Given the description of an element on the screen output the (x, y) to click on. 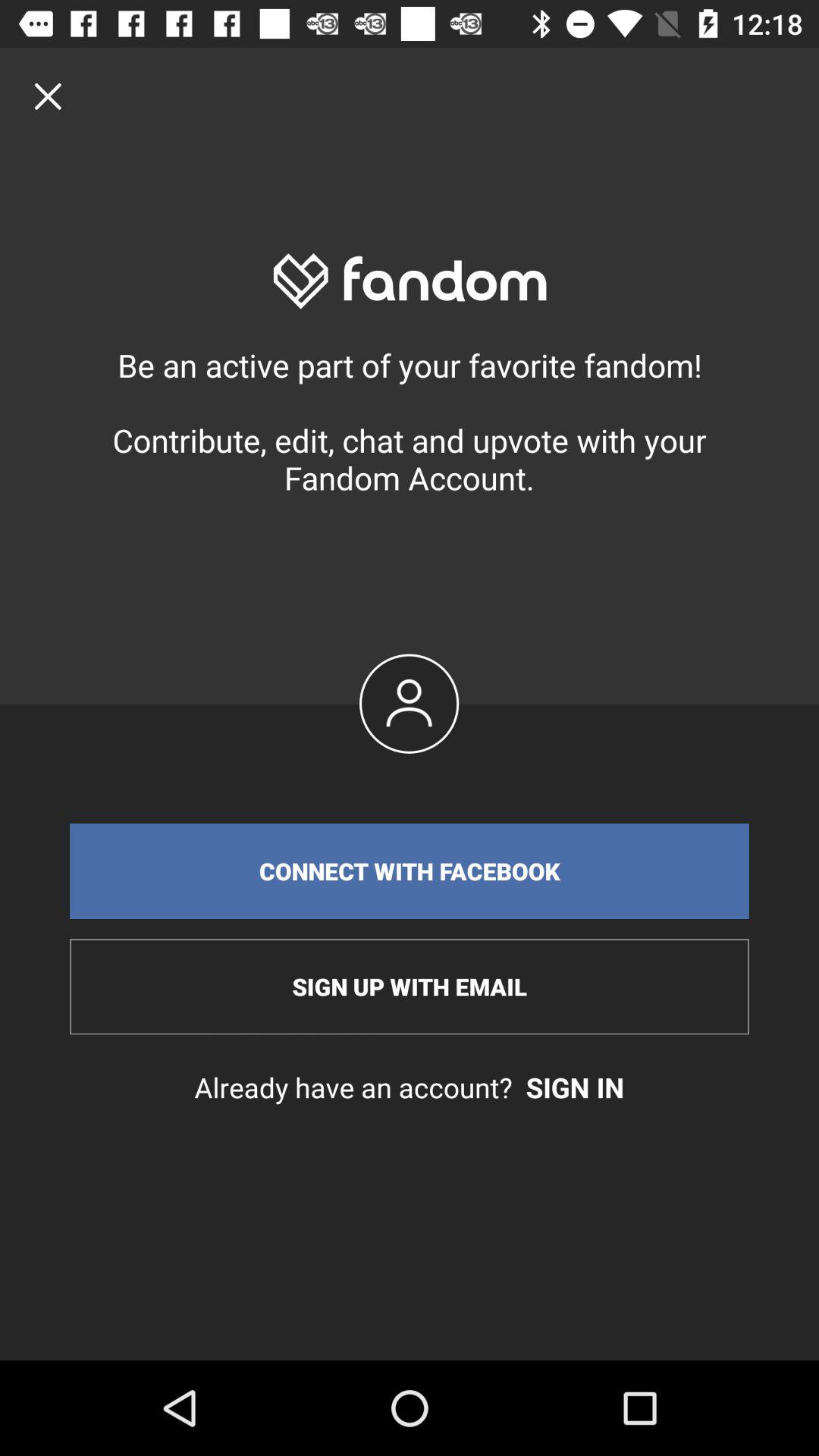
click connect with facebook icon (409, 871)
